Given the description of an element on the screen output the (x, y) to click on. 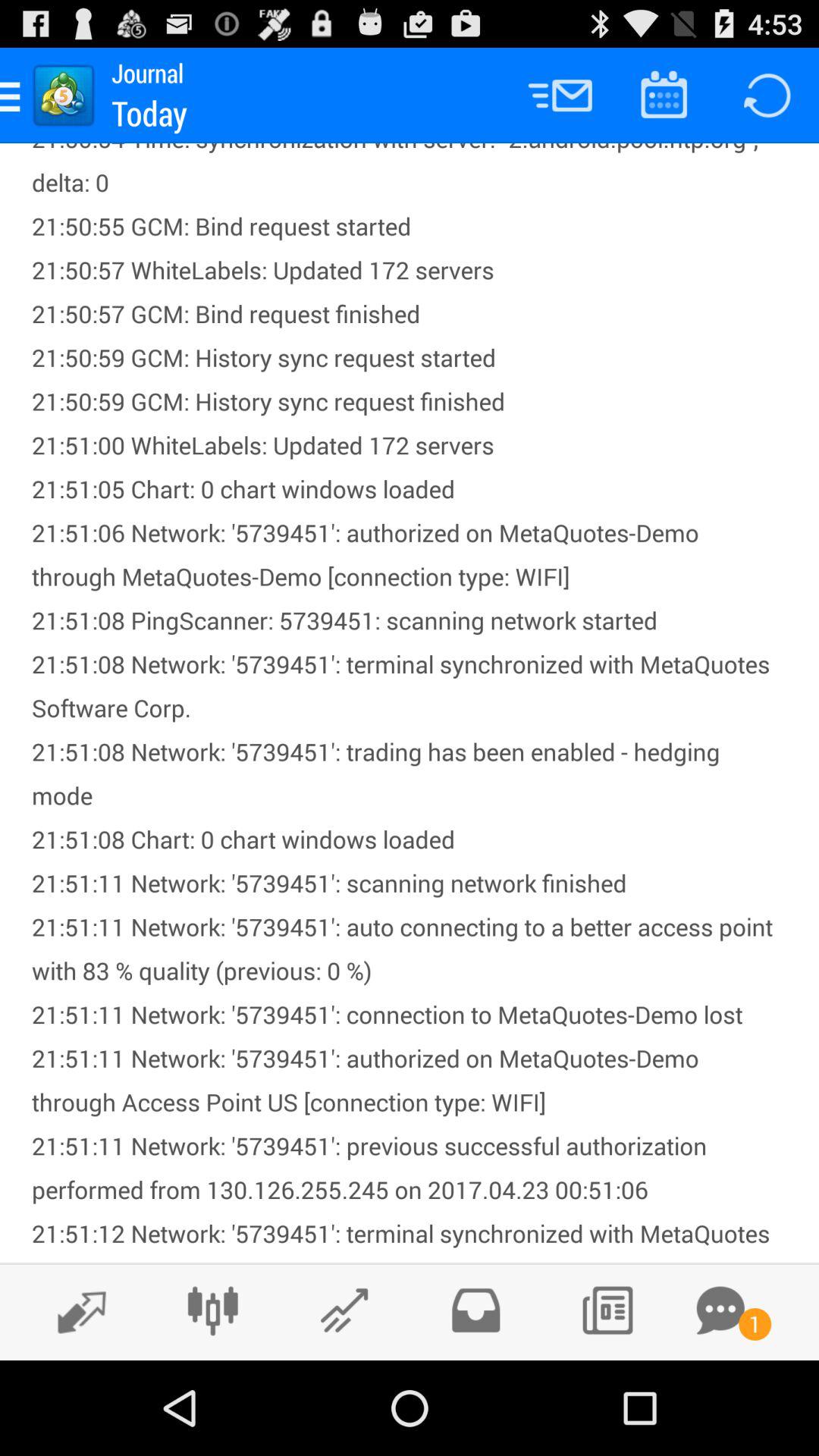
swipe until the 21 50 54 item (409, 702)
